Given the description of an element on the screen output the (x, y) to click on. 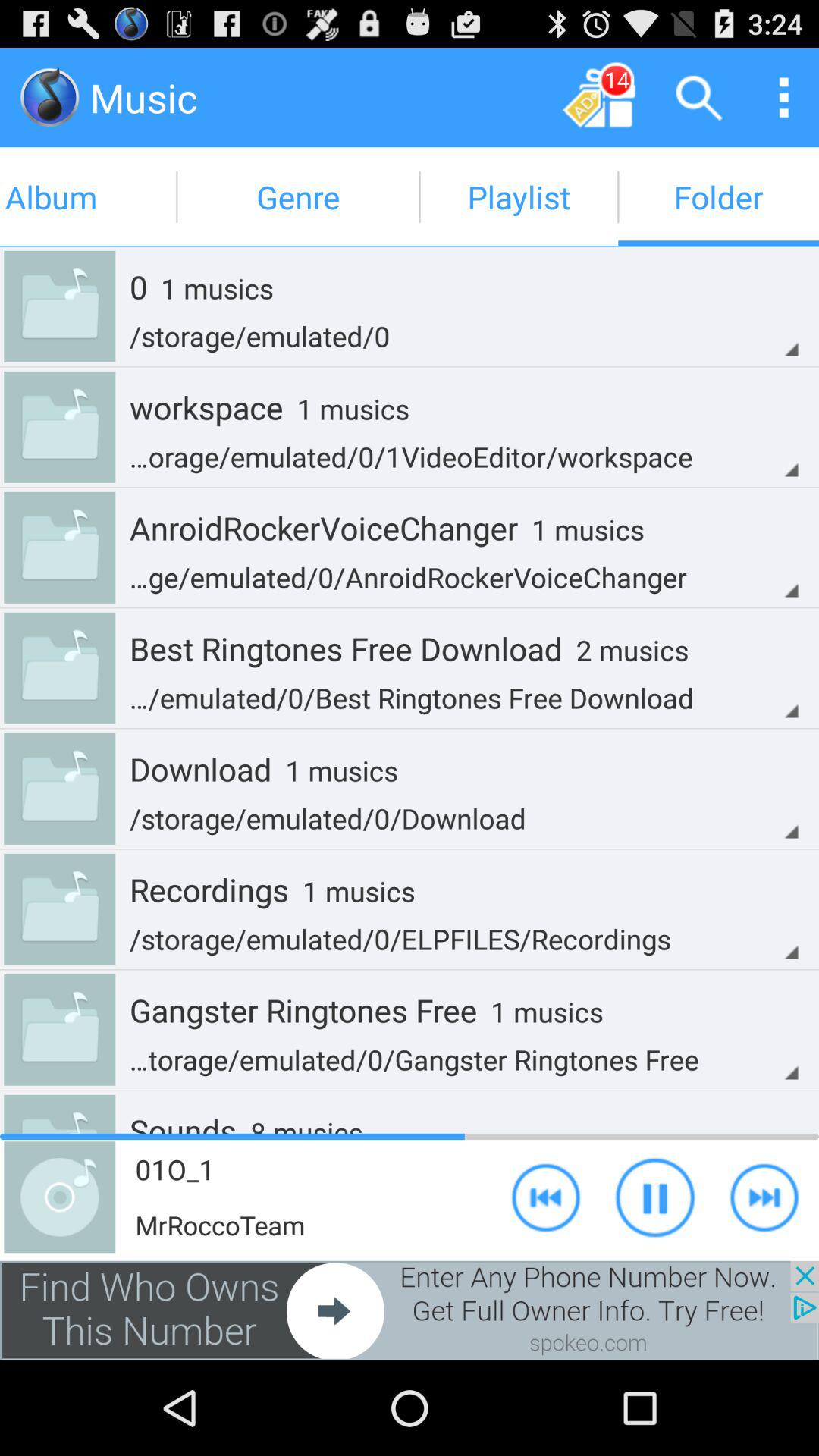
go to pasue option (654, 1196)
